Given the description of an element on the screen output the (x, y) to click on. 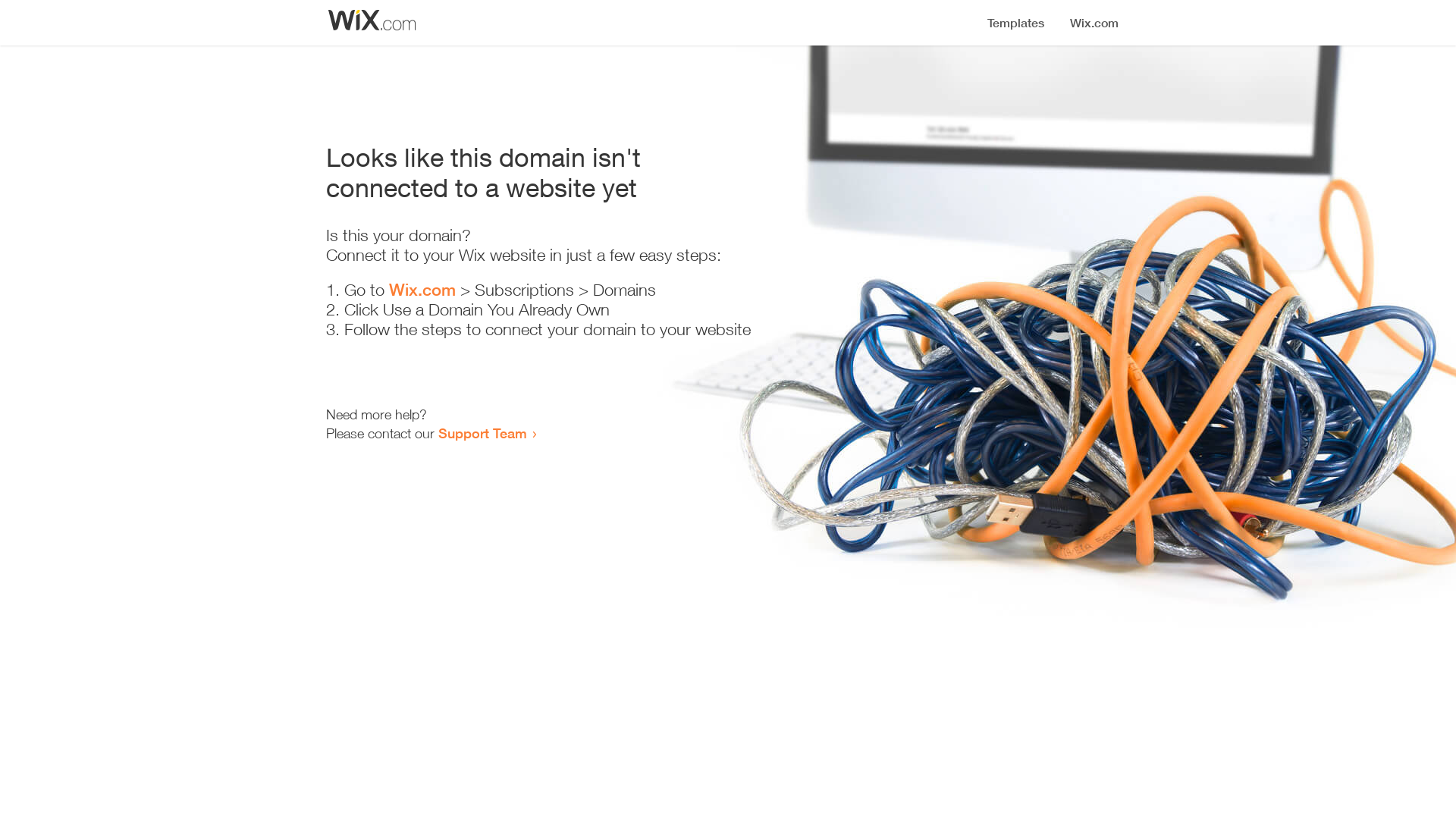
Support Team Element type: text (482, 432)
Wix.com Element type: text (422, 289)
